Given the description of an element on the screen output the (x, y) to click on. 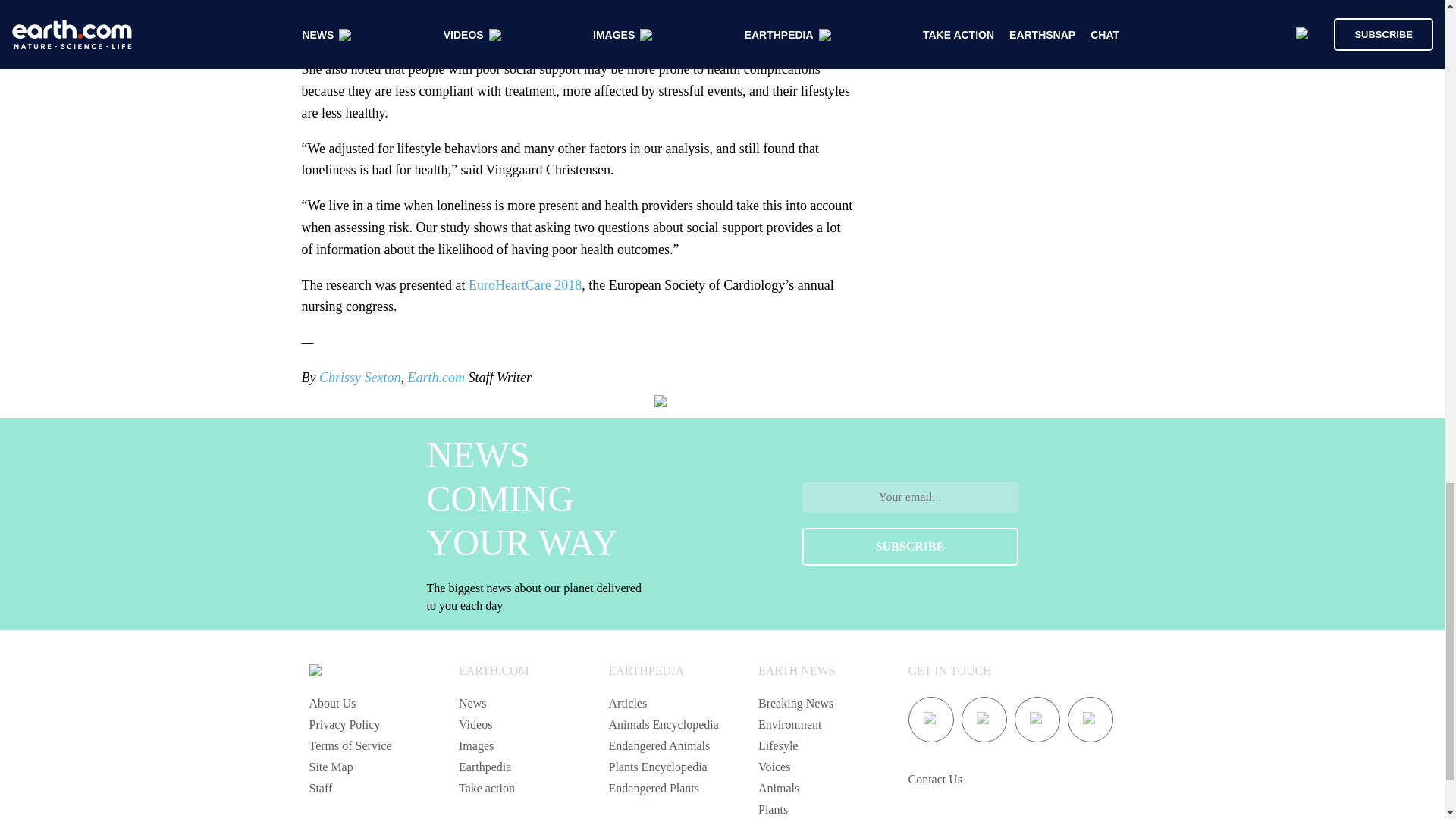
Earth.com (435, 377)
EuroHeartCare 2018 (524, 284)
Chrissy Sexton (359, 377)
